Given the description of an element on the screen output the (x, y) to click on. 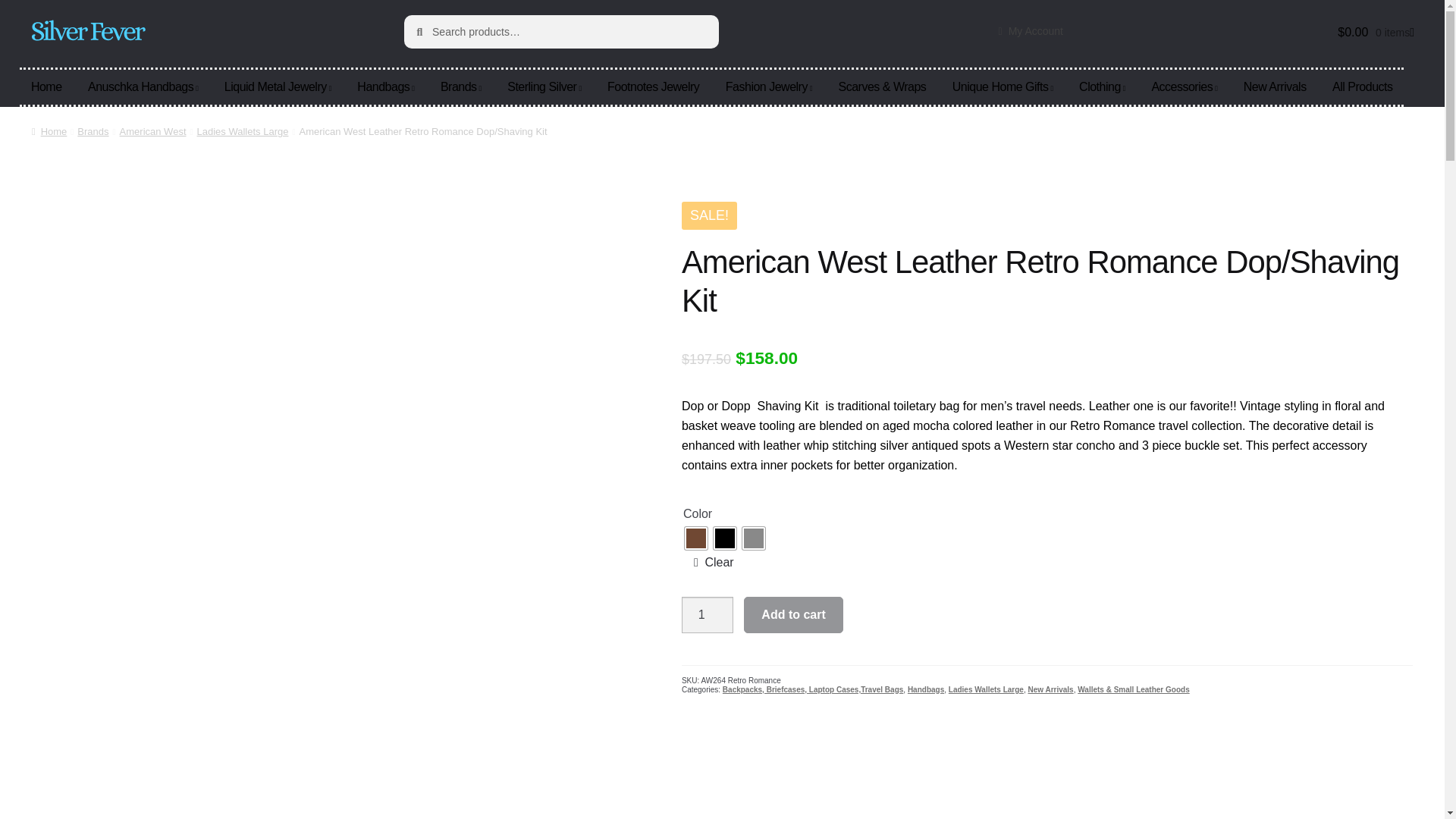
Brands (461, 86)
View your shopping cart (1256, 32)
Black (724, 538)
Distressed Charcoal (753, 538)
1 (707, 615)
Handbags (385, 86)
My Account (1041, 31)
Anuschka Handbags (143, 86)
Liquid Metal Jewelry (277, 86)
Home (47, 86)
Antiqued Brown (695, 538)
